Given the description of an element on the screen output the (x, y) to click on. 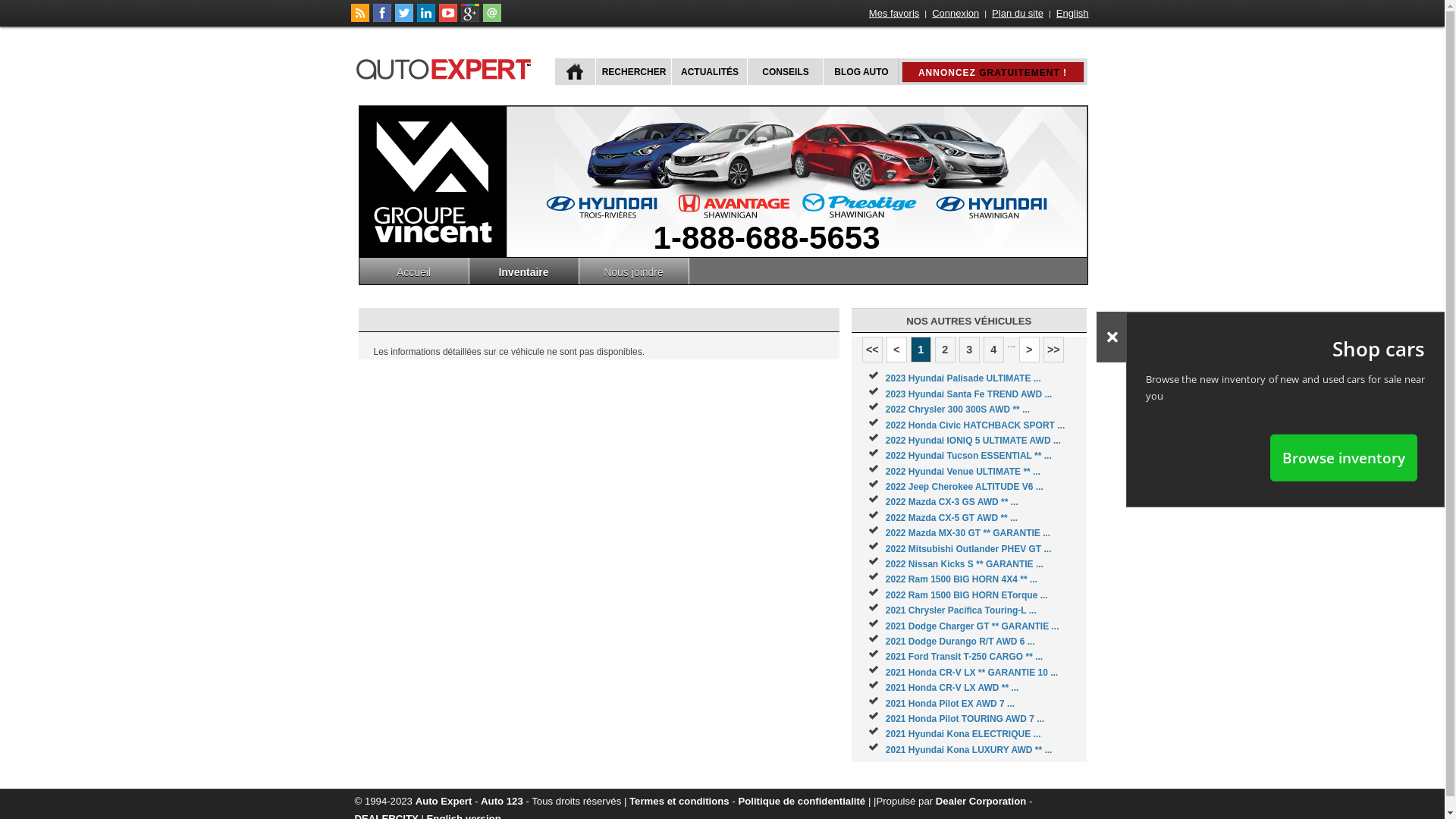
Termes et conditions Element type: text (679, 800)
2021 Honda CR-V LX AWD ** ... Element type: text (952, 687)
2021 Ford Transit T-250 CARGO ** ... Element type: text (963, 656)
2023 Hyundai Palisade ULTIMATE ... Element type: text (963, 378)
autoExpert.ca Element type: text (446, 66)
Joindre autoExpert.ca Element type: hover (491, 18)
Suivez autoExpert.ca sur Twitter Element type: hover (403, 18)
2022 Chrysler 300 300S AWD ** ... Element type: text (957, 409)
Connexion Element type: text (955, 13)
Inventaire Element type: text (523, 270)
2022 Honda Civic HATCHBACK SPORT ... Element type: text (974, 425)
2021 Chrysler Pacifica Touring-L ... Element type: text (960, 610)
Browse inventory Element type: text (1343, 457)
Suivez autoExpert.ca sur Facebook Element type: hover (382, 18)
2021 Honda CR-V LX ** GARANTIE 10 ... Element type: text (971, 672)
2021 Honda Pilot TOURING AWD 7 ... Element type: text (964, 718)
Dealer Corporation Element type: text (980, 800)
RECHERCHER Element type: text (631, 71)
4 Element type: text (993, 349)
Auto Expert Element type: text (443, 800)
ACCUEIL Element type: text (575, 71)
2021 Hyundai Kona LUXURY AWD ** ... Element type: text (968, 749)
2022 Nissan Kicks S ** GARANTIE ... Element type: text (964, 563)
2022 Mazda CX-5 GT AWD ** ... Element type: text (951, 517)
2021 Hyundai Kona ELECTRIQUE ... Element type: text (963, 733)
2022 Mazda CX-3 GS AWD ** ... Element type: text (951, 501)
Suivez autoExpert.ca sur Google Plus Element type: hover (470, 18)
Mes favoris Element type: text (893, 13)
Auto 123 Element type: text (501, 800)
2022 Hyundai Tucson ESSENTIAL ** ... Element type: text (968, 455)
CONSEILS Element type: text (783, 71)
2022 Hyundai IONIQ 5 ULTIMATE AWD ... Element type: text (972, 440)
1 Element type: text (920, 349)
2021 Dodge Durango R/T AWD 6 ... Element type: text (960, 641)
Accueil Element type: text (414, 270)
2022 Ram 1500 BIG HORN ETorque ... Element type: text (966, 594)
2 Element type: text (945, 349)
2022 Ram 1500 BIG HORN 4X4 ** ... Element type: text (961, 579)
2021 Honda Pilot EX AWD 7 ... Element type: text (949, 703)
2022 Mazda MX-30 GT ** GARANTIE ... Element type: text (967, 532)
2023 Hyundai Santa Fe TREND AWD ... Element type: text (968, 394)
>> Element type: text (1053, 349)
2022 Jeep Cherokee ALTITUDE V6 ... Element type: text (964, 486)
BLOG AUTO Element type: text (859, 71)
3 Element type: text (969, 349)
2021 Dodge Charger GT ** GARANTIE ... Element type: text (972, 626)
ANNONCEZ GRATUITEMENT ! Element type: text (992, 71)
Nous joindre Element type: text (634, 270)
English Element type: text (1072, 13)
> Element type: text (1029, 349)
2022 Mitsubishi Outlander PHEV GT ... Element type: text (968, 548)
Suivez autoExpert.ca sur Youtube Element type: hover (447, 18)
2022 Hyundai Venue ULTIMATE ** ... Element type: text (962, 471)
<< Element type: text (872, 349)
Suivez Publications Le Guide Inc. sur LinkedIn Element type: hover (426, 18)
Plan du site Element type: text (1017, 13)
< Element type: text (896, 349)
